Given the description of an element on the screen output the (x, y) to click on. 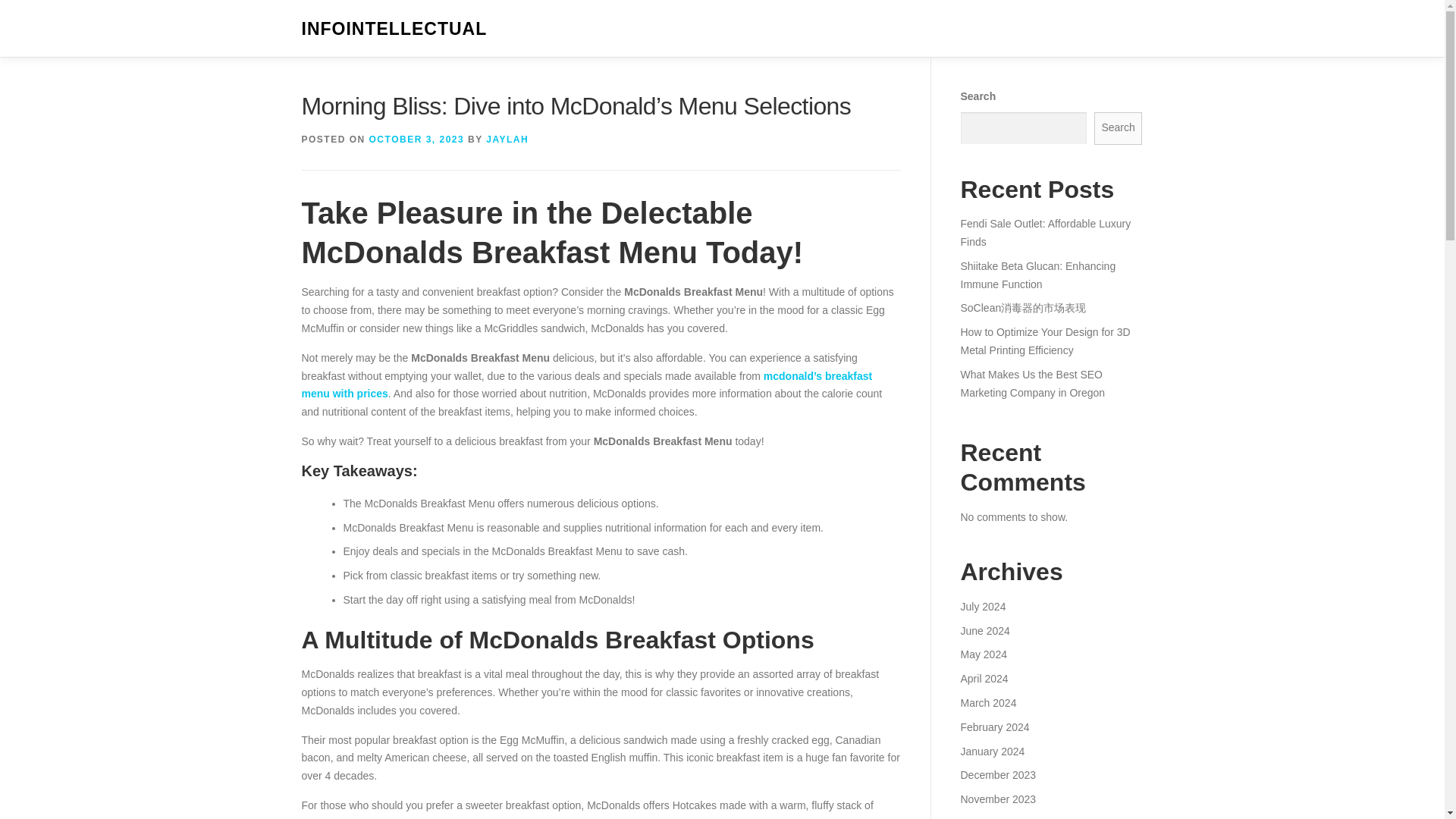
March 2024 (987, 702)
Search (1118, 128)
July 2024 (982, 606)
January 2024 (992, 750)
October 2023 (992, 818)
April 2024 (983, 678)
INFOINTELLECTUAL (394, 29)
What Makes Us the Best SEO Marketing Company in Oregon (1032, 383)
Shiitake Beta Glucan: Enhancing Immune Function (1037, 275)
December 2023 (997, 775)
OCTOBER 3, 2023 (416, 139)
November 2023 (997, 799)
May 2024 (982, 654)
How to Optimize Your Design for 3D Metal Printing Efficiency (1044, 340)
Fendi Sale Outlet: Affordable Luxury Finds (1045, 232)
